Given the description of an element on the screen output the (x, y) to click on. 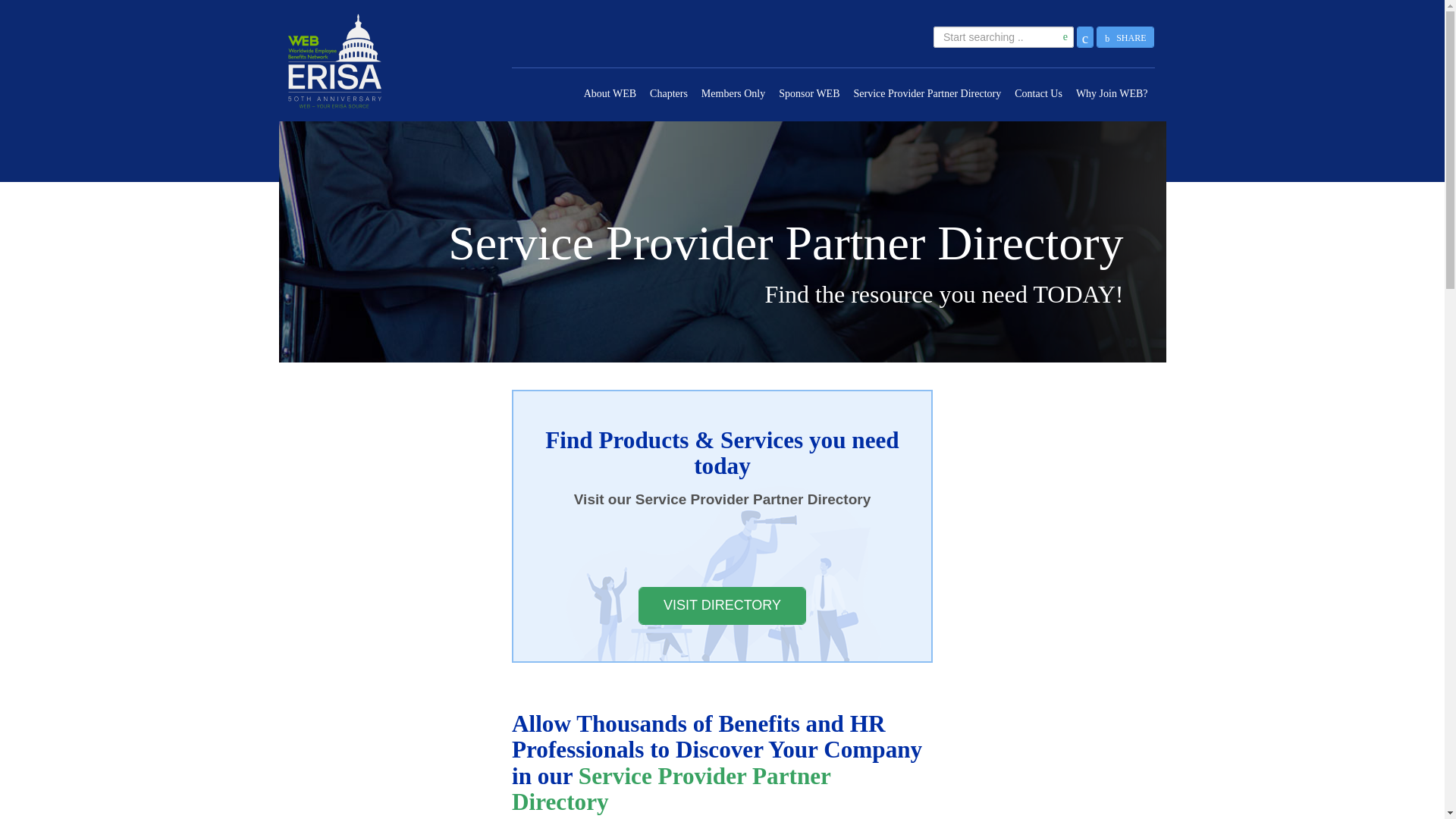
SHARE (1125, 36)
Worldwide Employee Benefits Network (382, 60)
Members Only (732, 94)
Contact Us (1037, 94)
Sponsor WEB (808, 94)
Why Join WEB? (1111, 94)
About WEB (609, 94)
VISIT DIRECTORY (722, 605)
Service Provider Partner Directory (926, 94)
Chapters (668, 94)
